Given the description of an element on the screen output the (x, y) to click on. 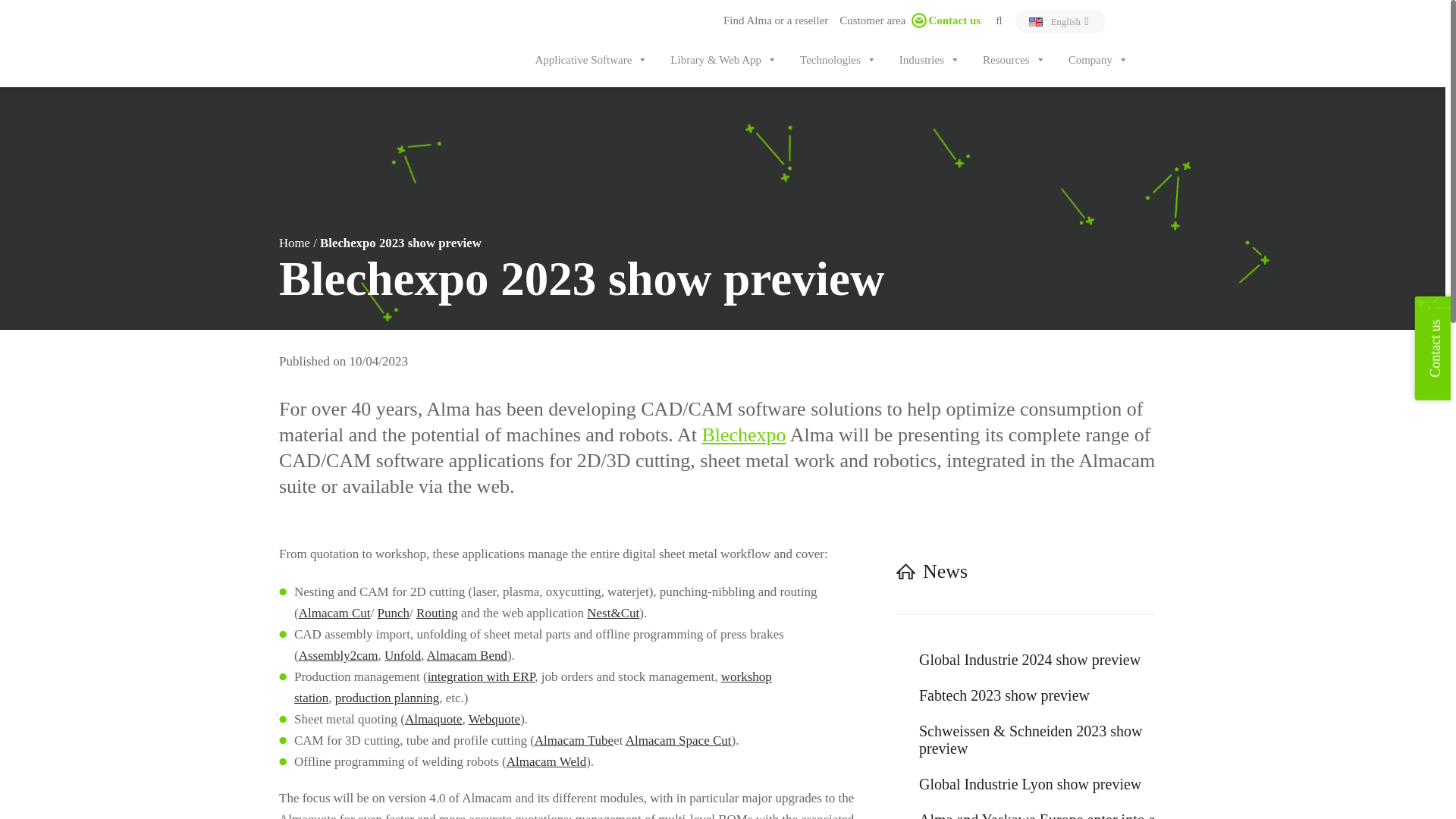
English (1055, 21)
Applicative Software (590, 60)
Contact us (942, 20)
Customer area (866, 20)
English (1055, 21)
Find Alma or a reseller (769, 20)
